Given the description of an element on the screen output the (x, y) to click on. 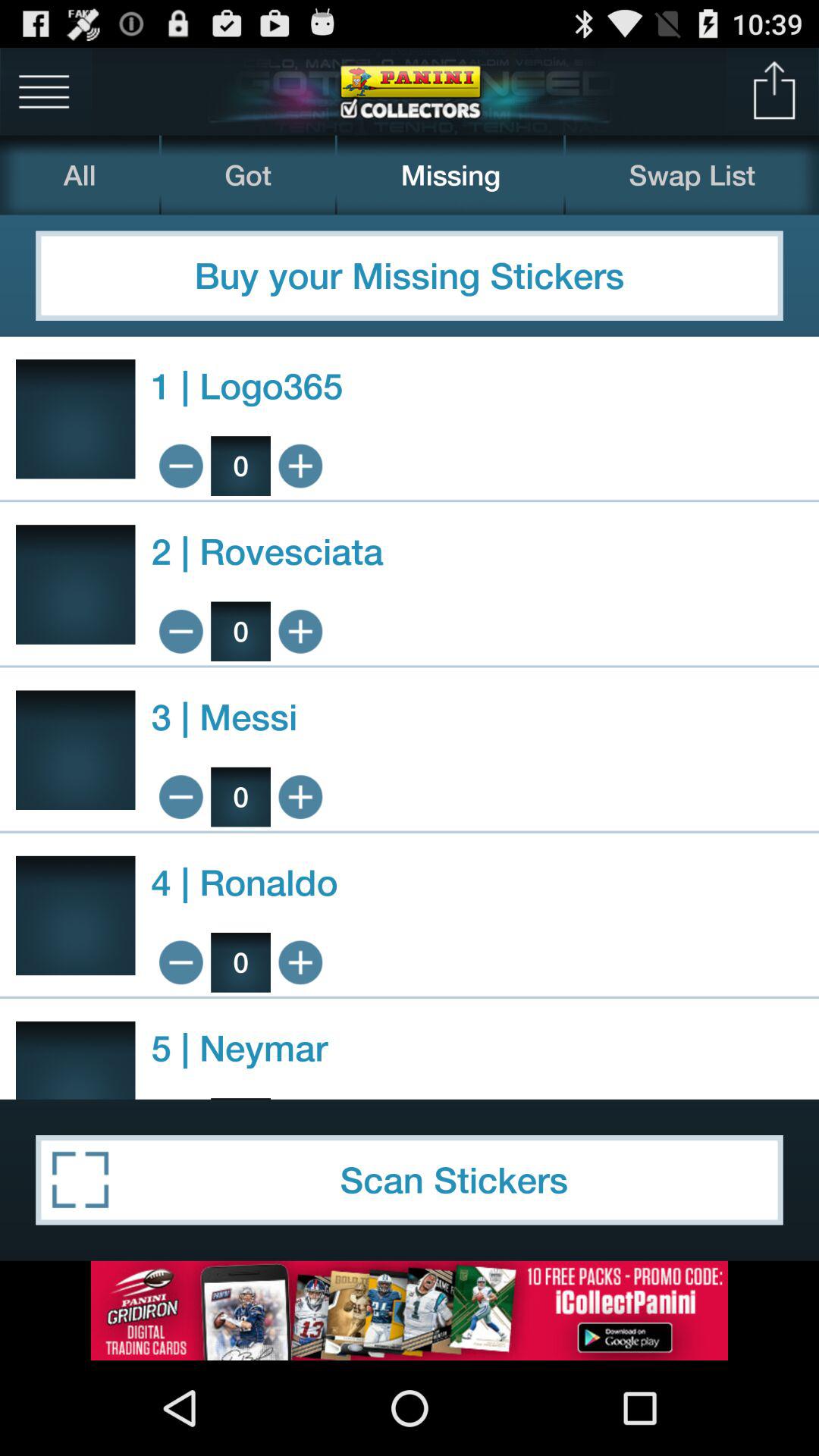
add option (300, 1098)
